Given the description of an element on the screen output the (x, y) to click on. 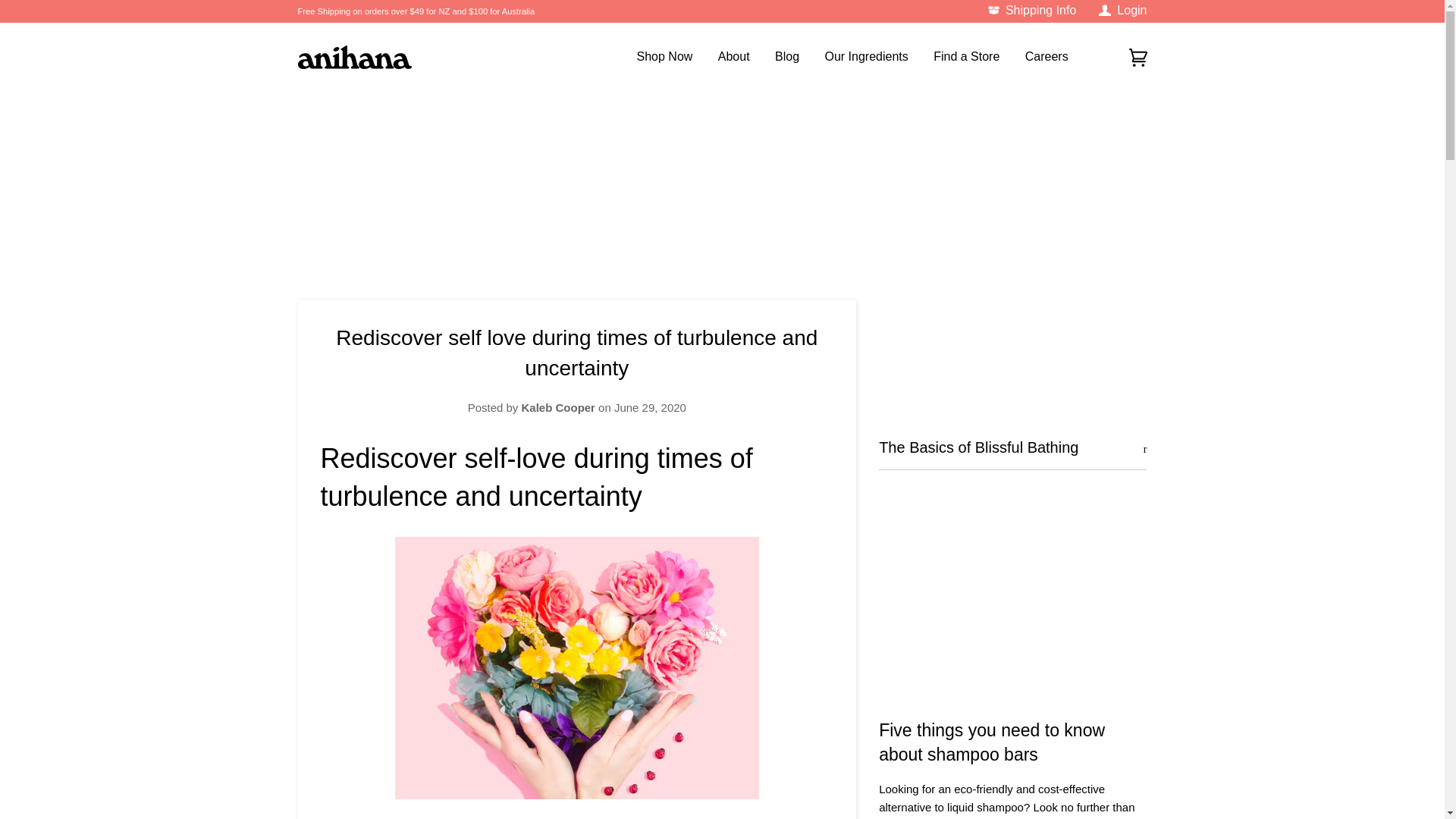
Find a Store (954, 56)
Login (1123, 9)
Our Ingredients (854, 56)
Shipping Info (1031, 9)
Careers (1035, 56)
Shop Now (660, 56)
